Given the description of an element on the screen output the (x, y) to click on. 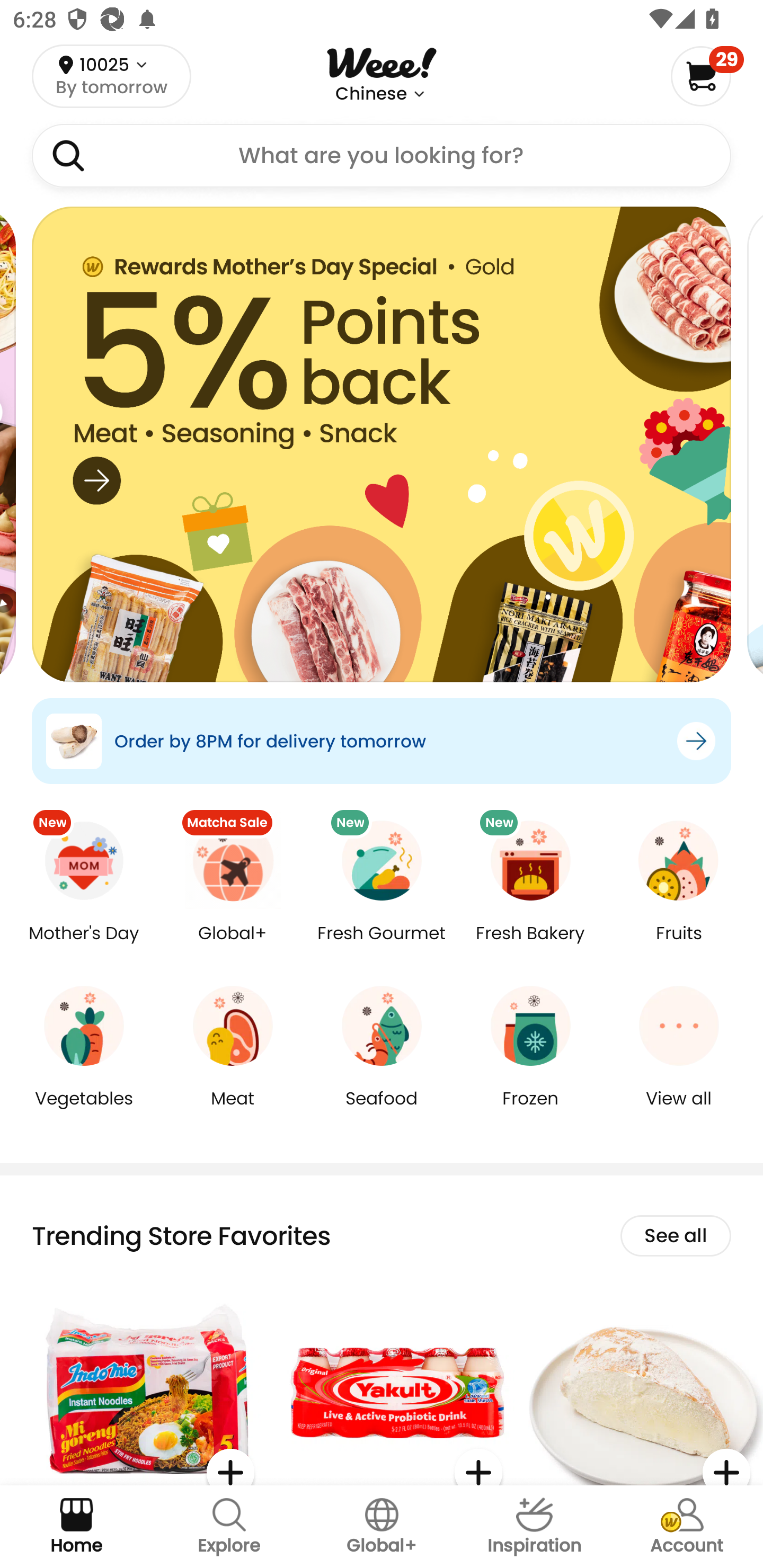
10025 By tomorrow (111, 75)
29 (706, 75)
Chinese (370, 93)
What are you looking for? (381, 155)
Order by 8PM for delivery tomorrow (381, 740)
Mother's Day (83, 946)
Global+ (232, 946)
Fresh Gourmet (381, 946)
Fresh Bakery (530, 946)
Fruits (678, 946)
Vegetables (83, 1111)
Meat (232, 1111)
Seafood (381, 1111)
Frozen (530, 1111)
View all (678, 1111)
Home (76, 1526)
Explore (228, 1526)
Global+ (381, 1526)
Inspiration (533, 1526)
Account (686, 1526)
